Given the description of an element on the screen output the (x, y) to click on. 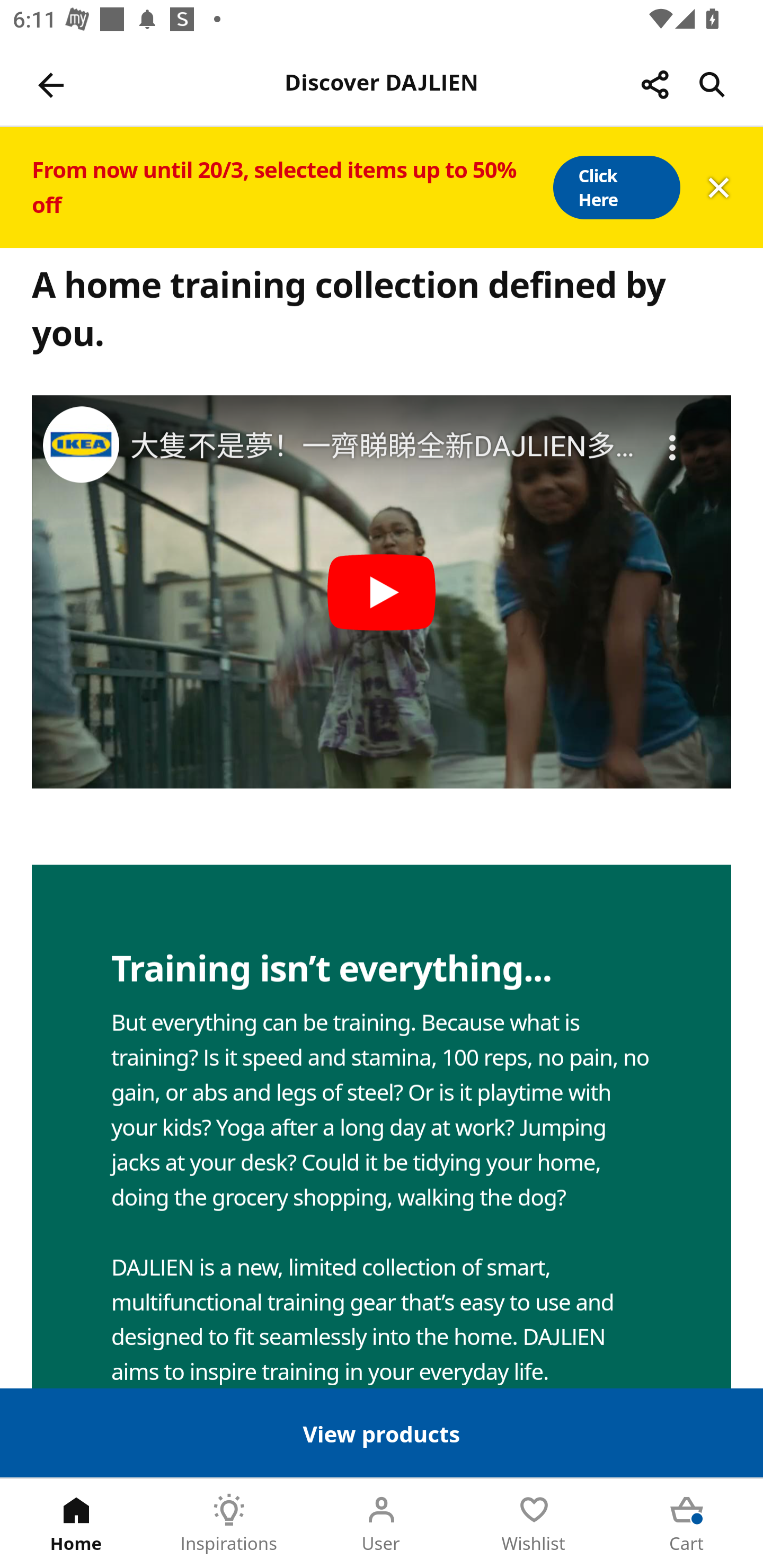
Click Here (615, 187)
More (673, 435)
Photo image of IKEAHongKong (80, 443)
大隻不是夢！一齊睇睇全新DAJLIEN多功能家居訓練系列｜IKEA Hong Kong (382, 446)
Play (381, 591)
View products (381, 1432)
Home
Tab 1 of 5 (76, 1522)
Inspirations
Tab 2 of 5 (228, 1522)
User
Tab 3 of 5 (381, 1522)
Wishlist
Tab 4 of 5 (533, 1522)
Cart
Tab 5 of 5 (686, 1522)
